Given the description of an element on the screen output the (x, y) to click on. 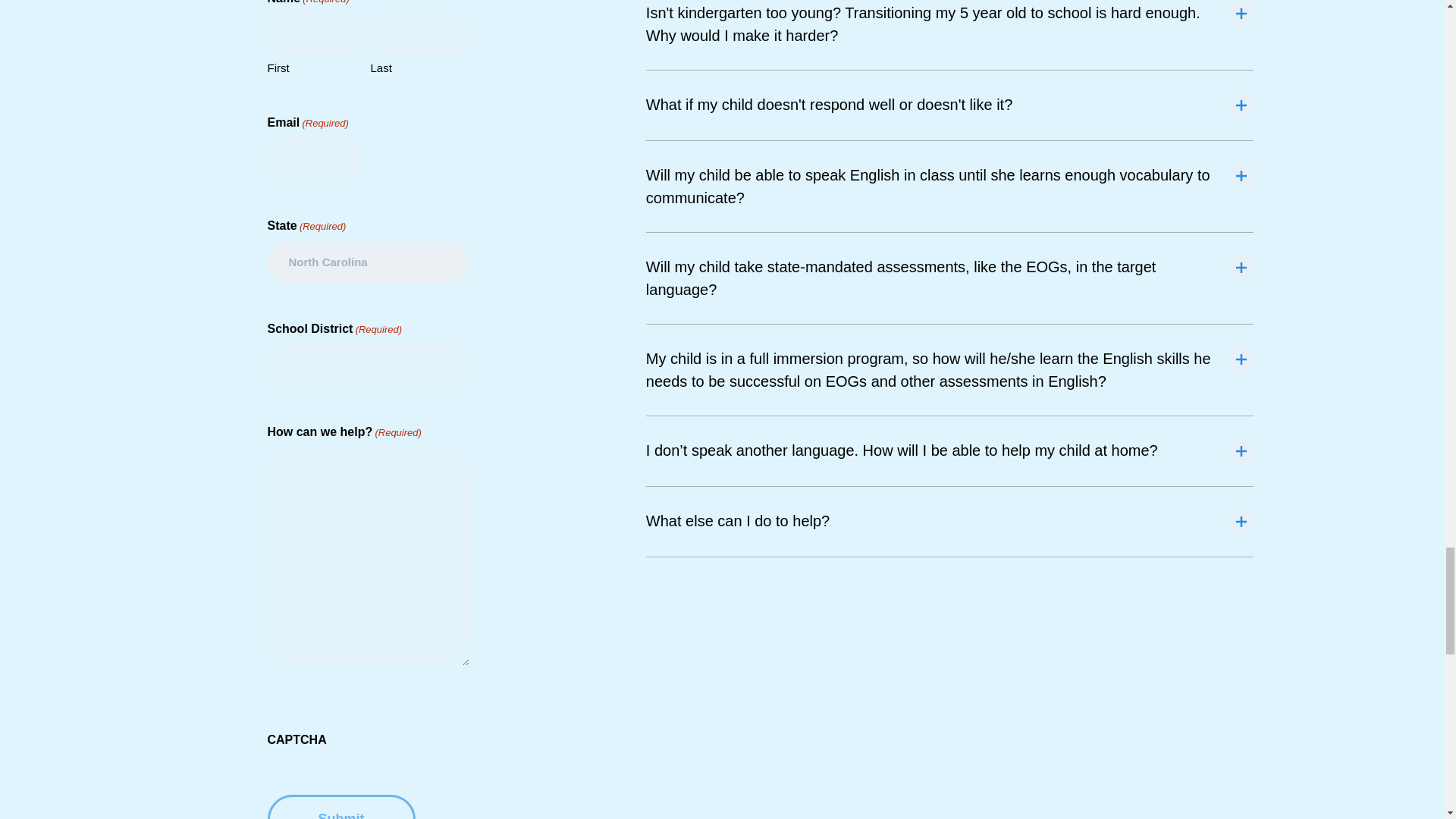
Submit (340, 806)
Submit (340, 806)
